Given the description of an element on the screen output the (x, y) to click on. 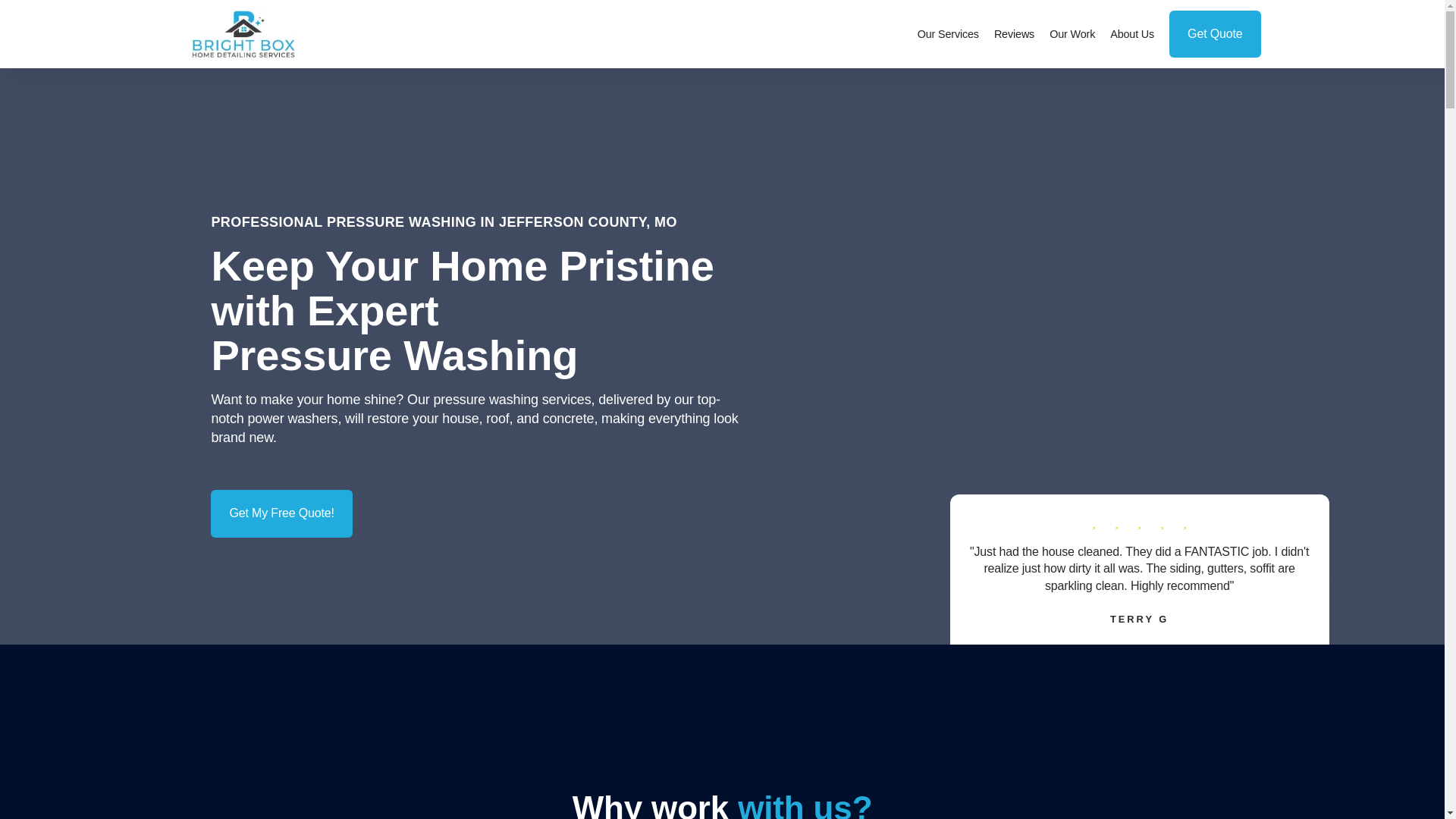
Get Quote (1214, 33)
Our Work (1072, 34)
About Us (1131, 34)
Get My Free Quote! (281, 513)
Reviews (1014, 34)
